Given the description of an element on the screen output the (x, y) to click on. 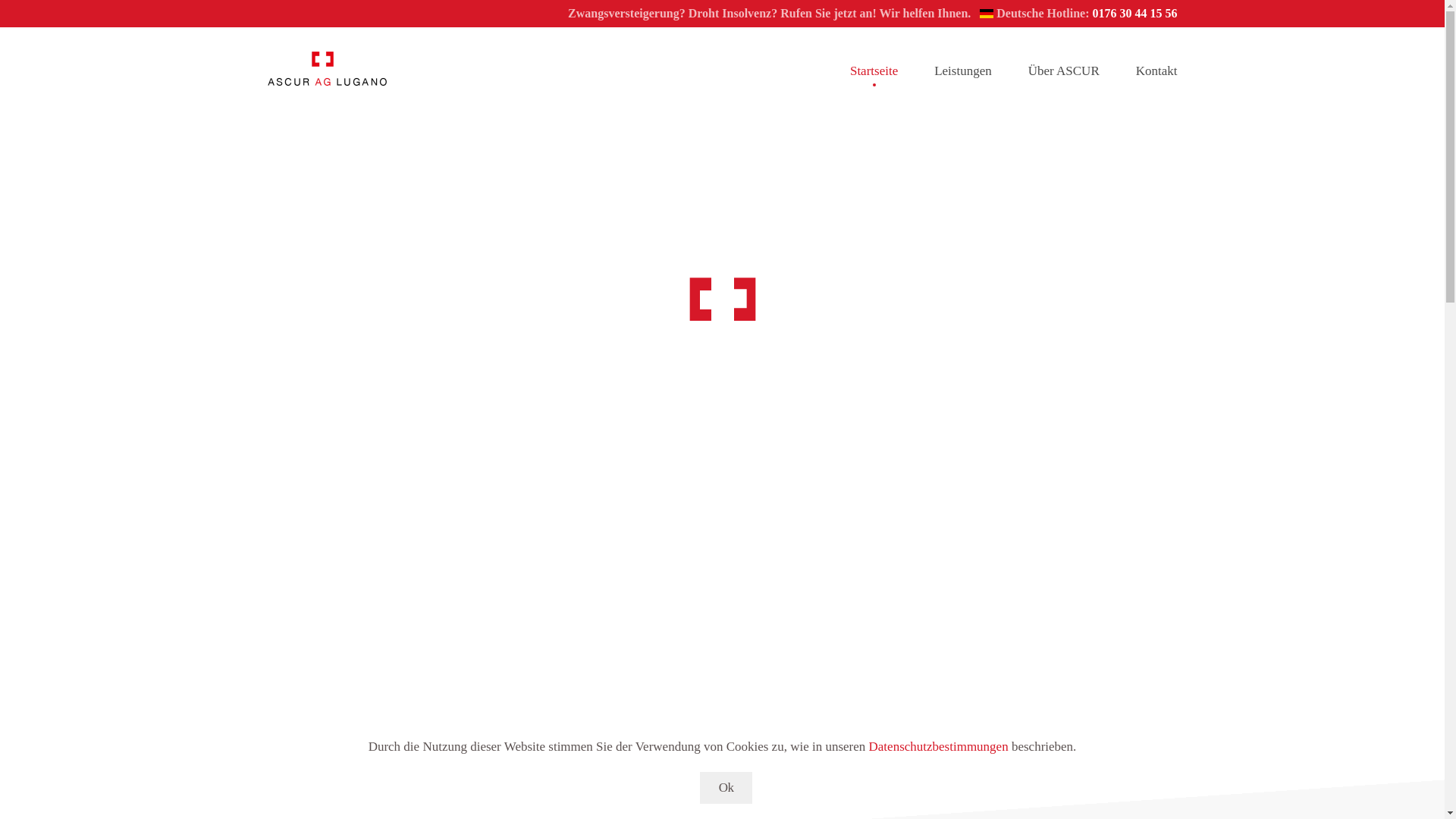
Ok Element type: text (725, 787)
Kontakt Element type: text (1156, 71)
Startseite Element type: text (873, 71)
Datenschutzbestimmungen Element type: text (938, 746)
Leistungen Element type: text (962, 71)
0176 30 44 15 56 Element type: text (1134, 12)
